Given the description of an element on the screen output the (x, y) to click on. 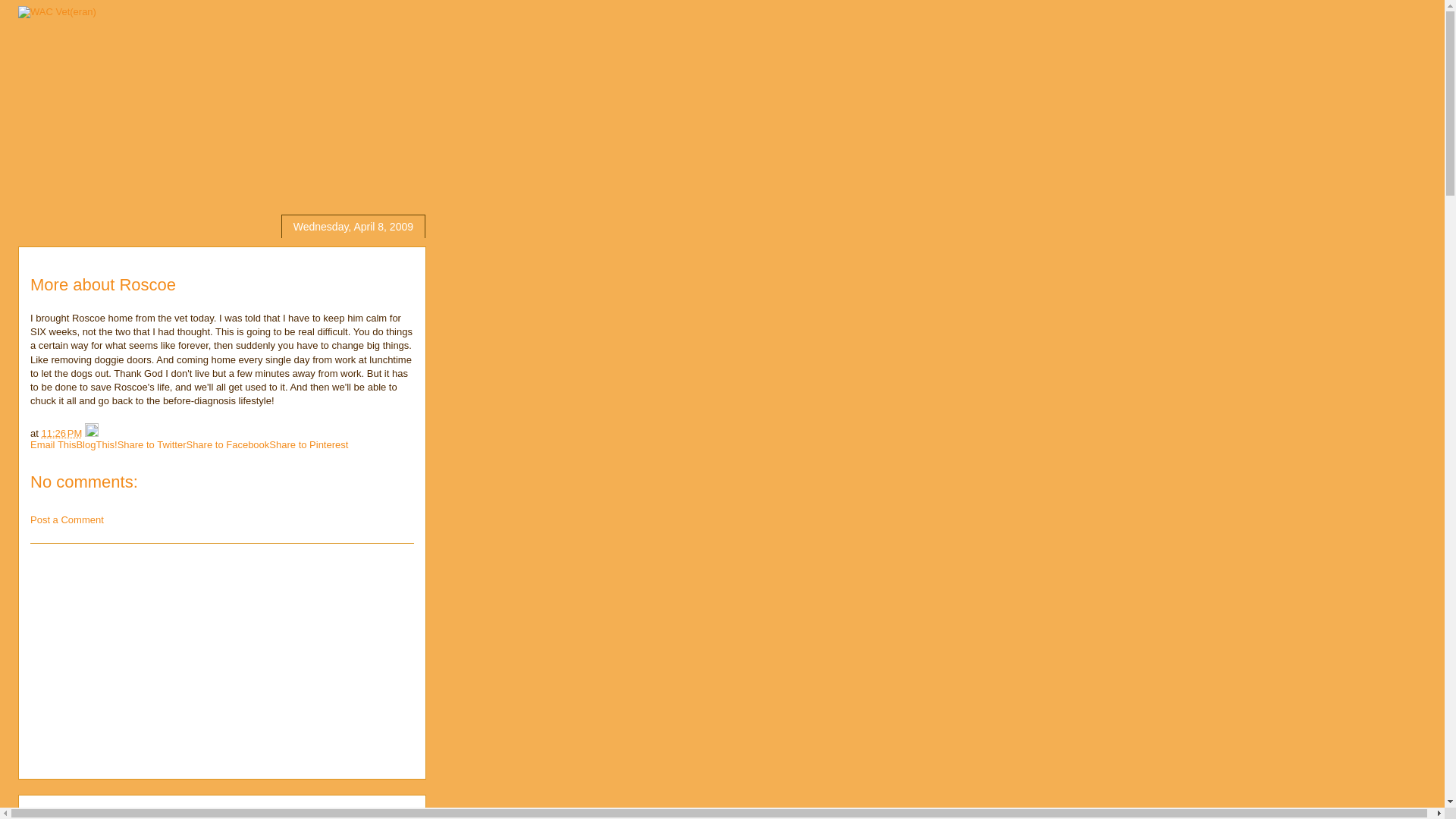
Home (170, 812)
Edit Post (91, 432)
Share to Pinterest (308, 444)
BlogThis! (95, 444)
Email This (52, 444)
Newer Post (60, 812)
Share to Pinterest (308, 444)
Newer Post (60, 812)
Share to Facebook (227, 444)
BlogThis! (95, 444)
Post a Comment (66, 519)
Advertisement (221, 661)
Older Post (122, 812)
permanent link (60, 432)
